Given the description of an element on the screen output the (x, y) to click on. 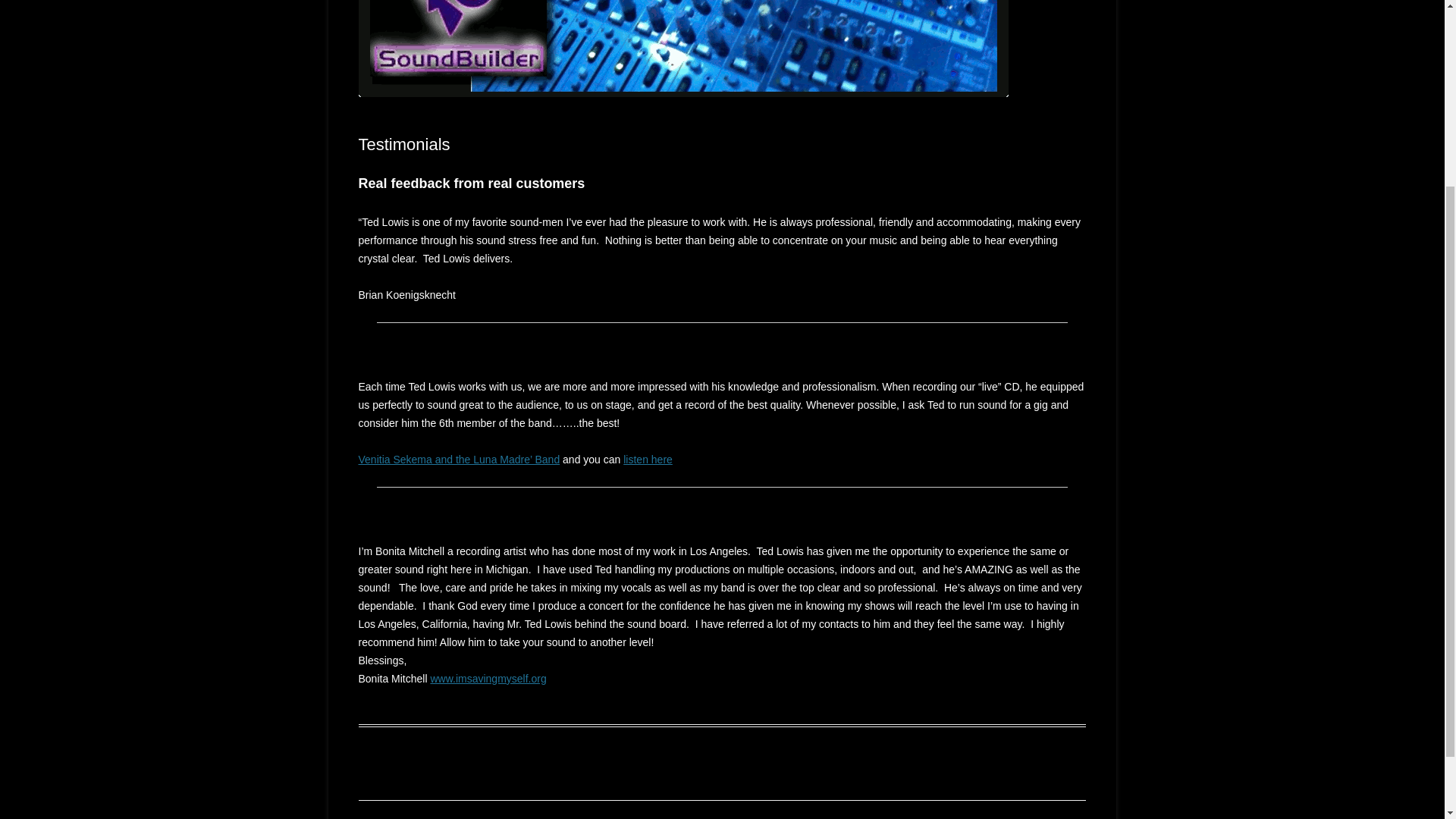
listen here (647, 459)
www.imsavingmyself.org (487, 678)
